Given the description of an element on the screen output the (x, y) to click on. 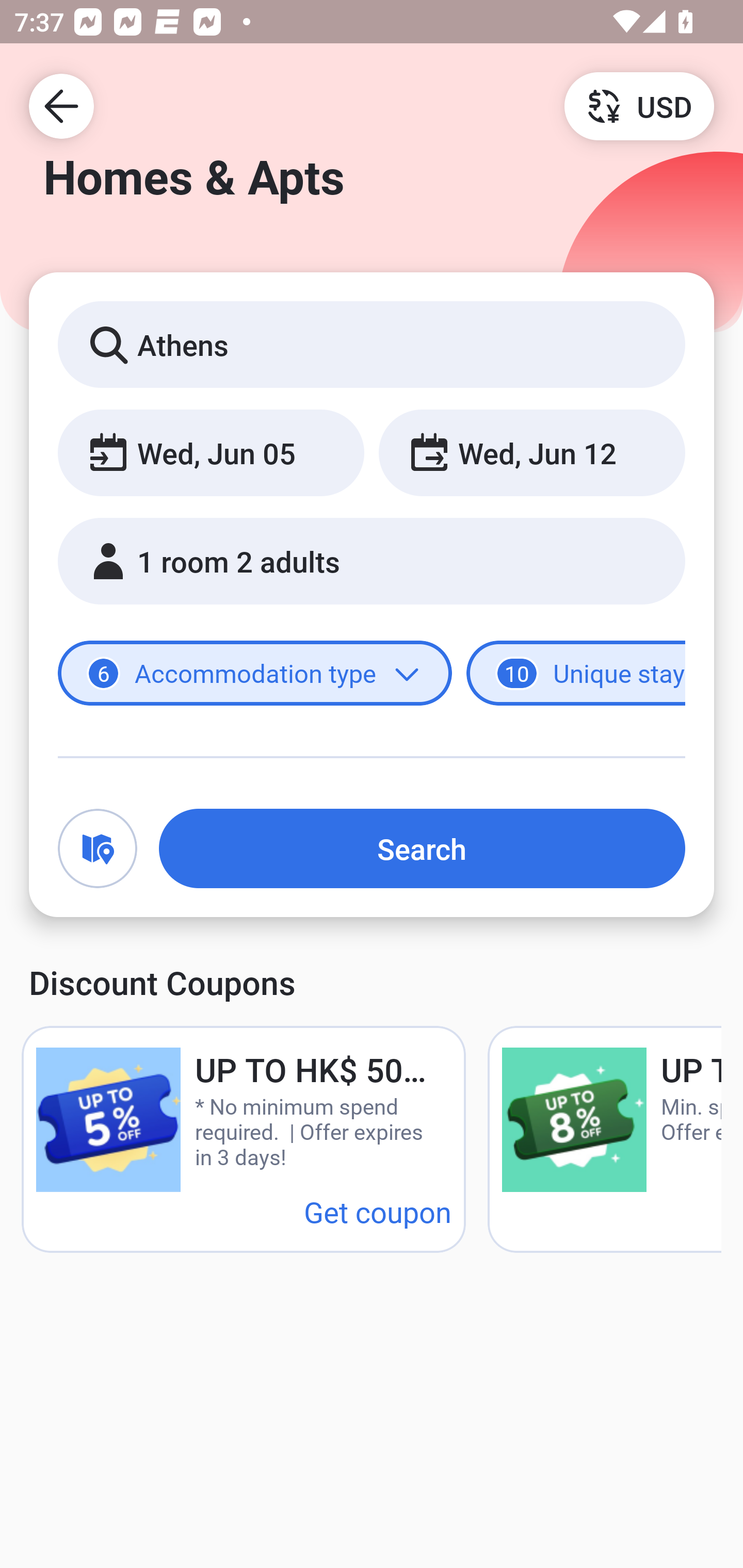
USD (639, 105)
Athens (371, 344)
Wed, Jun 05 (210, 452)
Wed, Jun 12 (531, 452)
1 room 2 adults (371, 561)
6 Accommodation type (254, 673)
10 Unique stays (575, 673)
Search (422, 848)
Get coupon (377, 1211)
